Given the description of an element on the screen output the (x, y) to click on. 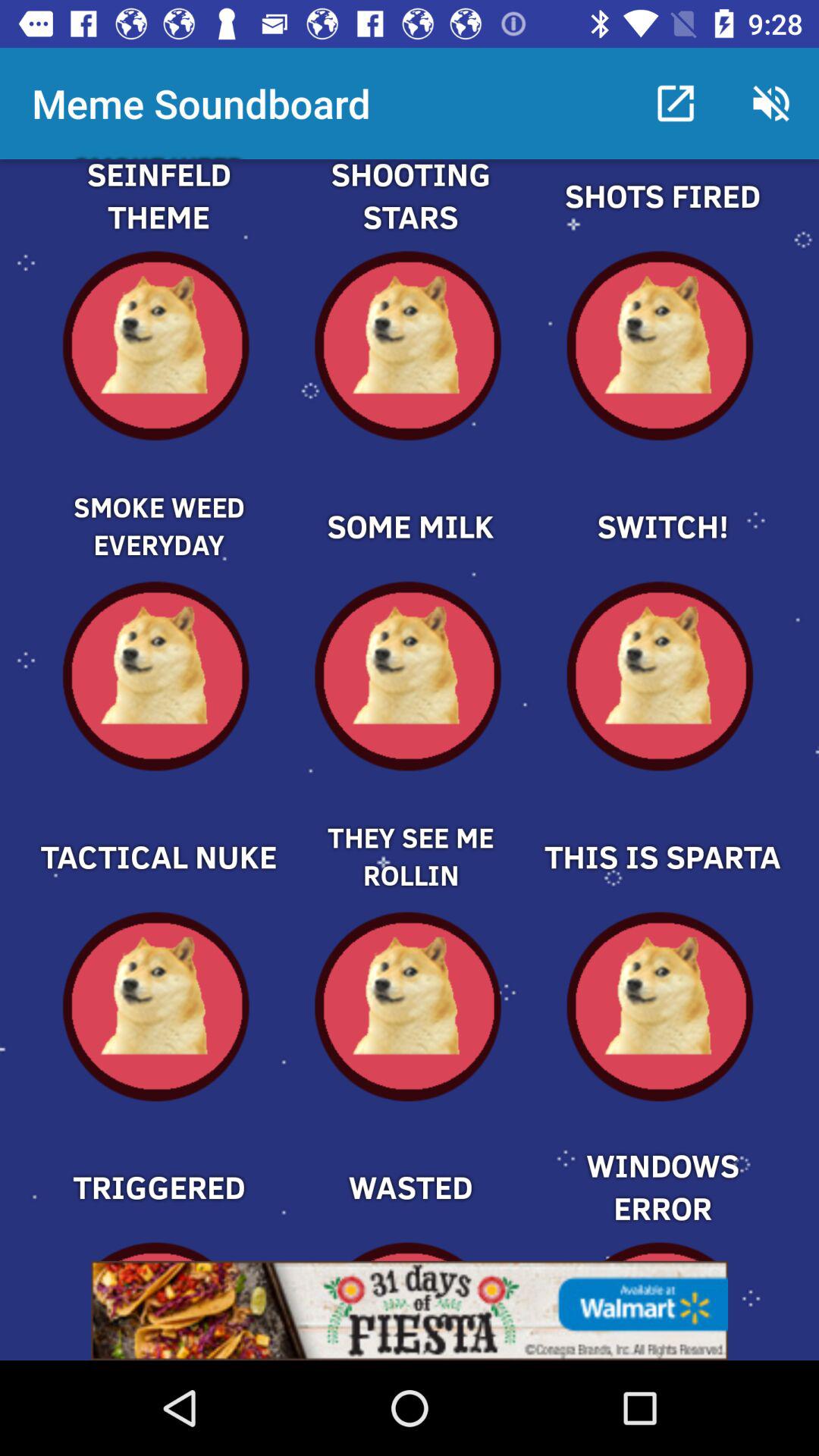
to select the particular item (157, 830)
